Given the description of an element on the screen output the (x, y) to click on. 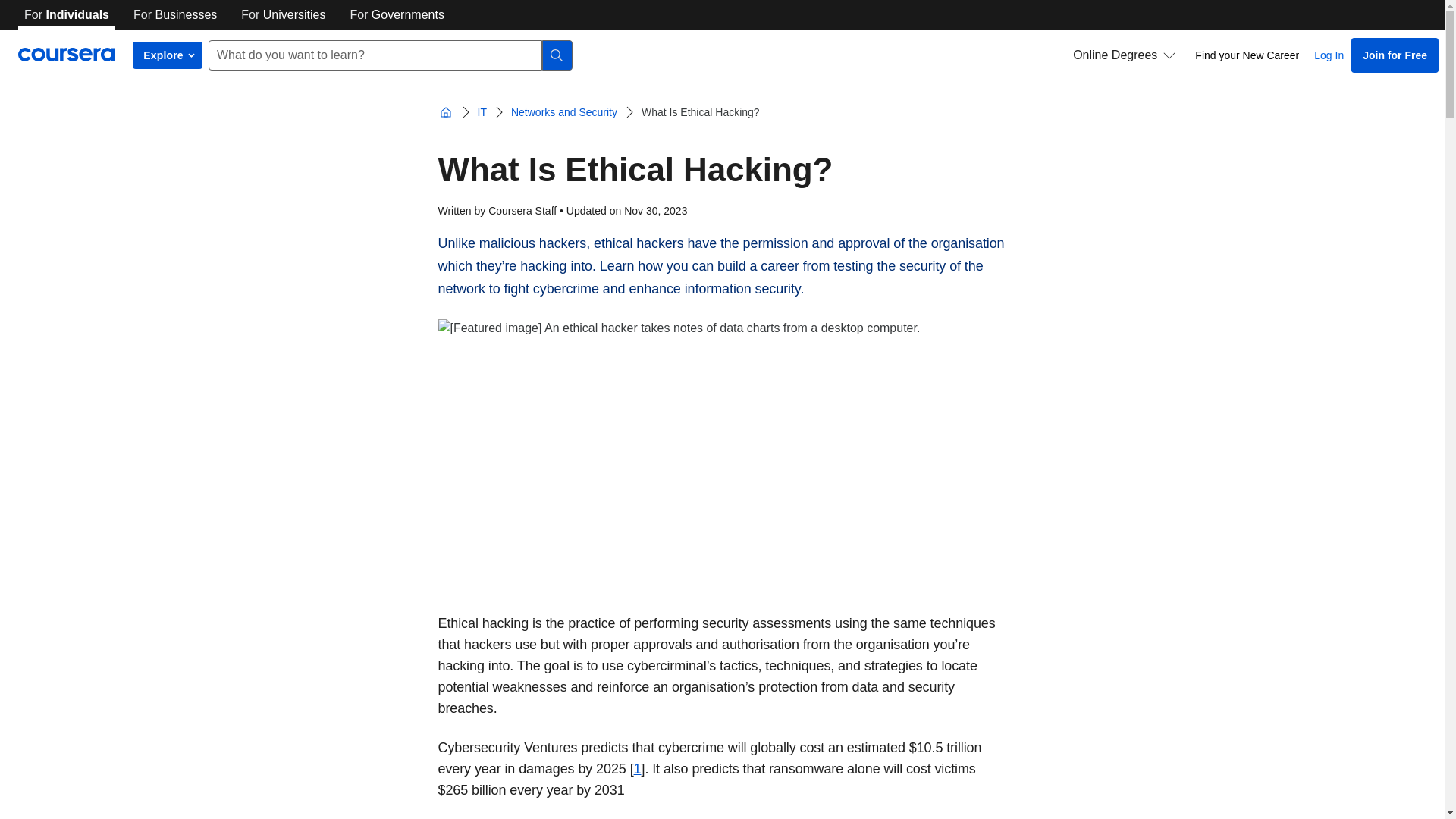
For Governments (396, 15)
For Businesses (175, 15)
What Is Ethical Hacking? (699, 112)
For Individuals (66, 15)
Join for Free (1394, 54)
For Universities (282, 15)
Log In (1328, 54)
Networks and Security (564, 112)
Find your New Career (1247, 54)
Online Degrees (1124, 54)
Explore (167, 53)
